Given the description of an element on the screen output the (x, y) to click on. 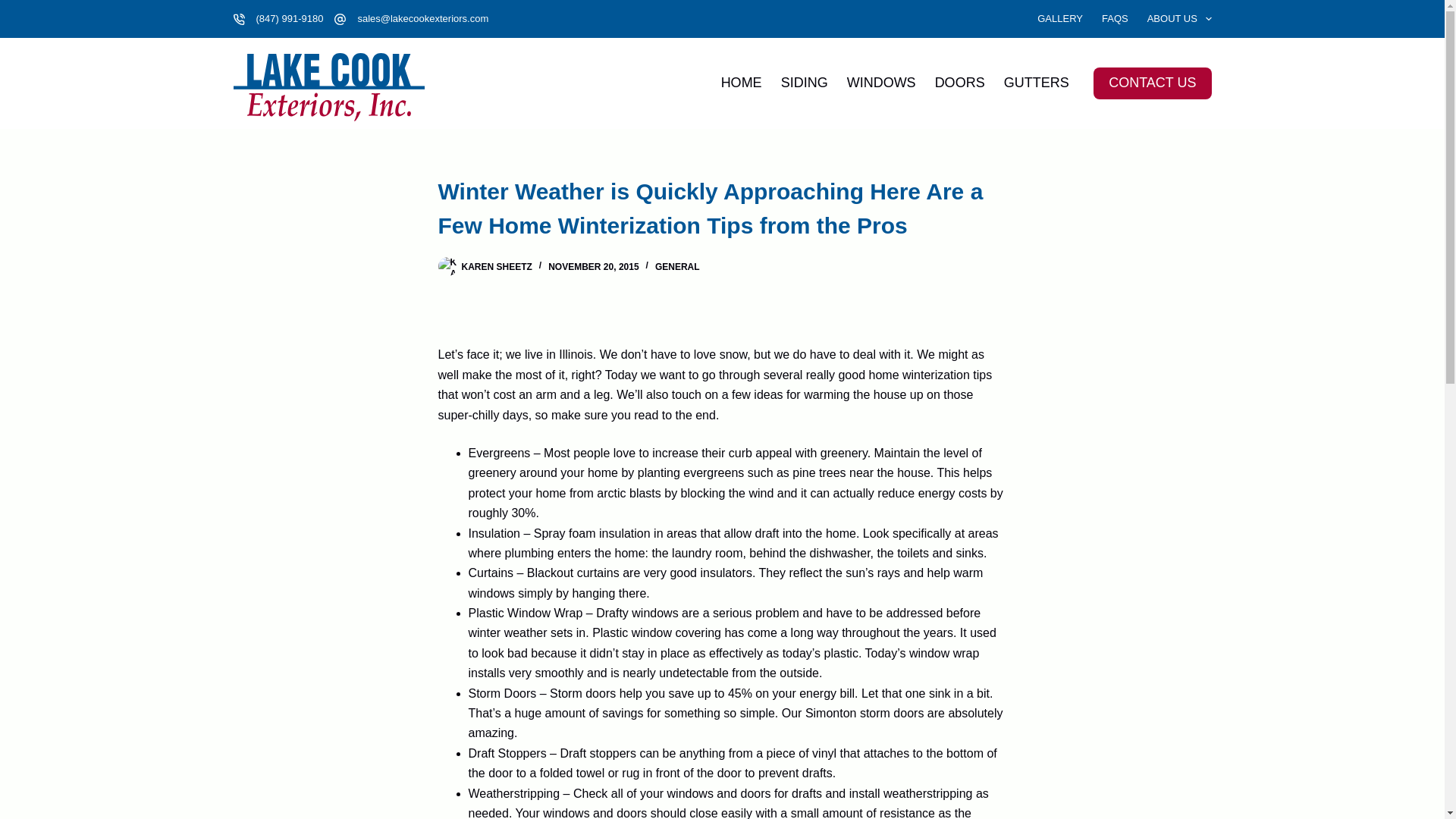
CONTACT US (1152, 83)
GUTTERS (1036, 82)
WINDOWS (880, 82)
ABOUT US (1174, 18)
GALLERY (1060, 18)
Skip to content (15, 7)
FAQS (1114, 18)
Posts by Karen Sheetz (496, 266)
